Given the description of an element on the screen output the (x, y) to click on. 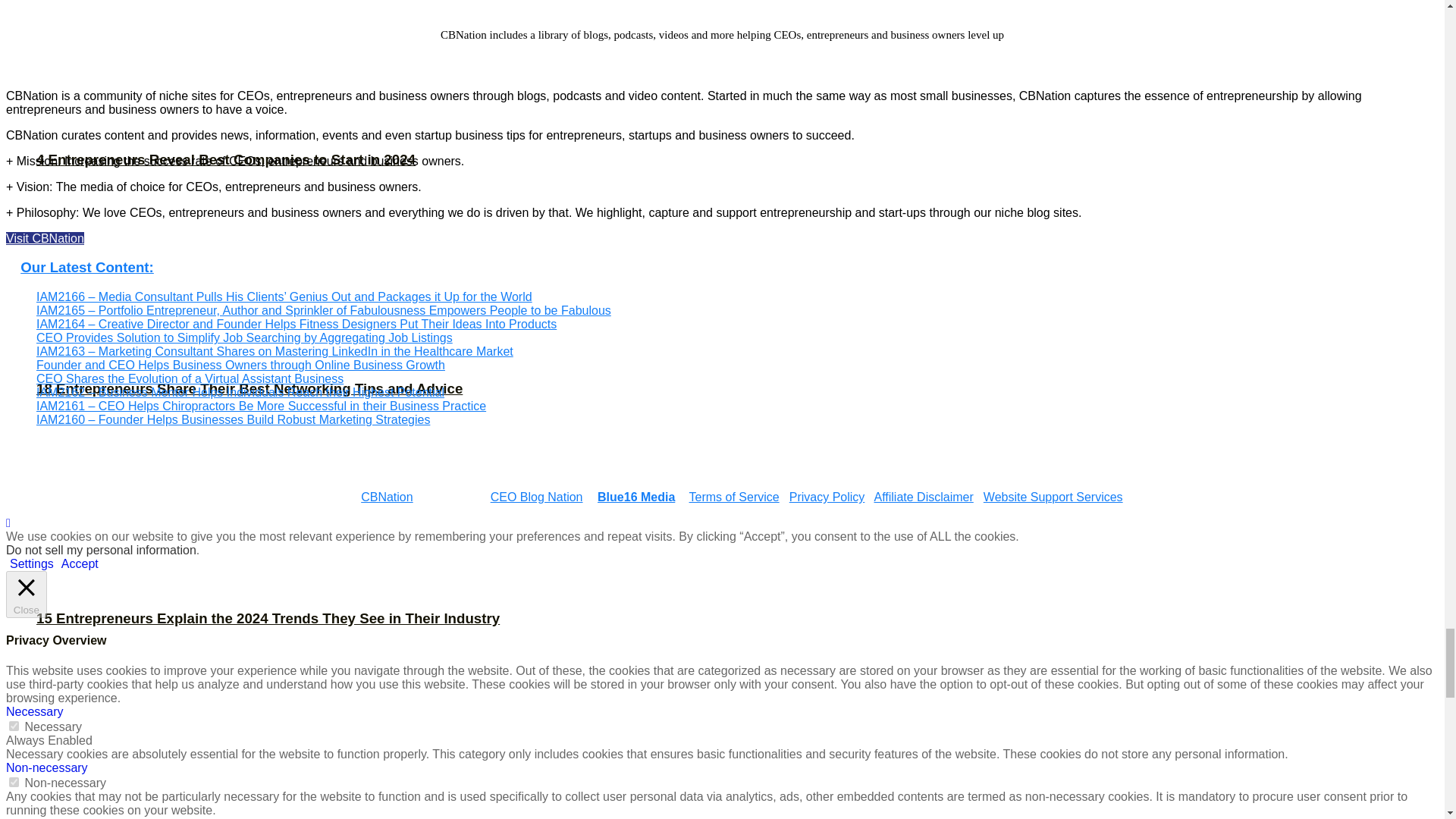
on (13, 781)
on (13, 725)
